Given the description of an element on the screen output the (x, y) to click on. 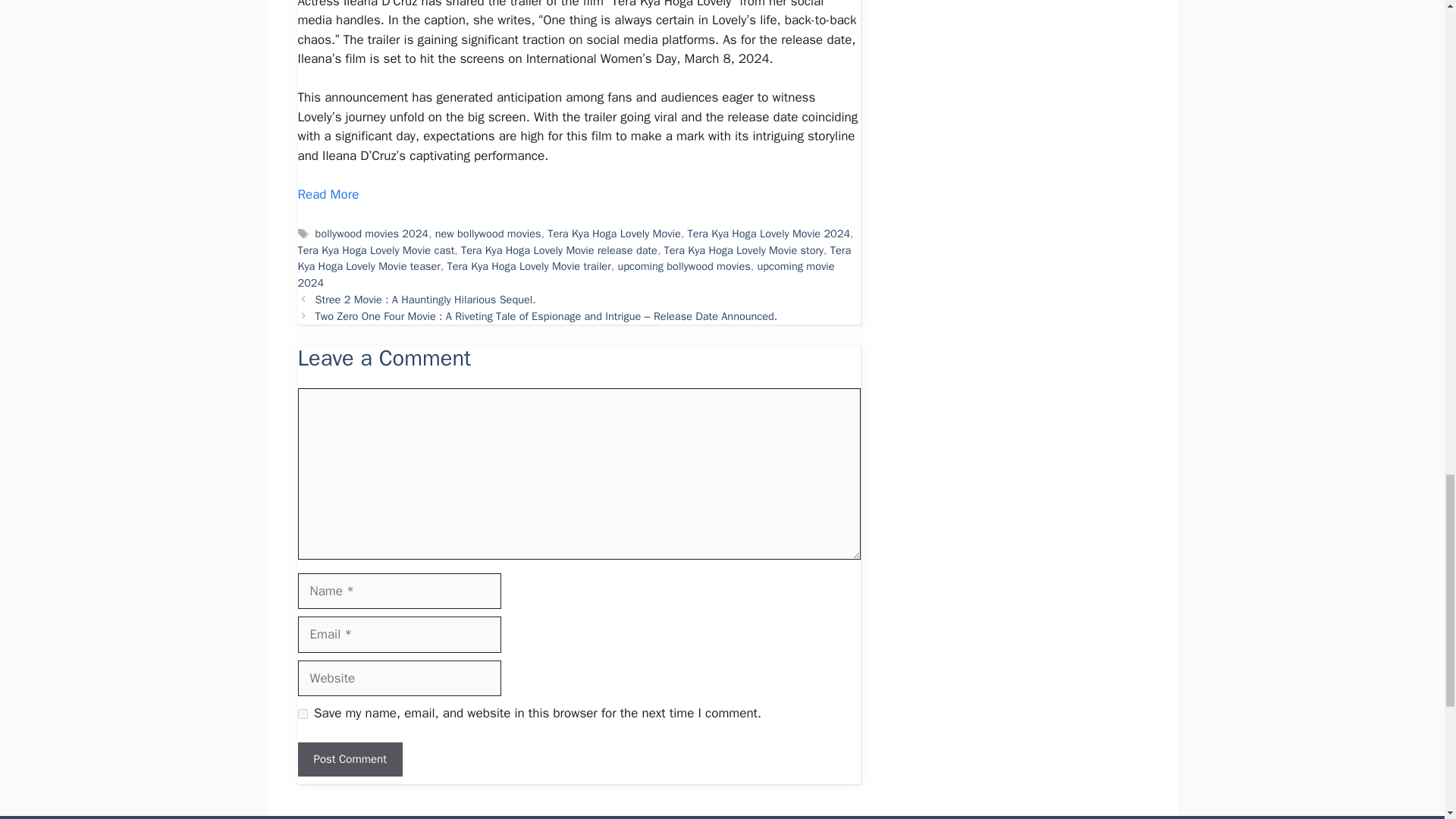
Tera Kya Hoga Lovely Movie teaser (573, 258)
bollywood movies 2024 (371, 233)
yes (302, 714)
Tera Kya Hoga Lovely Movie story (743, 250)
Post Comment (349, 759)
Read More  (329, 194)
Tera Kya Hoga Lovely Movie (614, 233)
Post Comment (349, 759)
Tera Kya Hoga Lovely Movie trailer (528, 265)
Tera Kya Hoga Lovely Movie 2024 (768, 233)
upcoming movie 2024 (565, 274)
Stree 2 Movie : A Hauntingly Hilarious Sequel. (425, 299)
upcoming bollywood movies (683, 265)
Tera Kya Hoga Lovely Movie release date (559, 250)
new bollywood movies (488, 233)
